Given the description of an element on the screen output the (x, y) to click on. 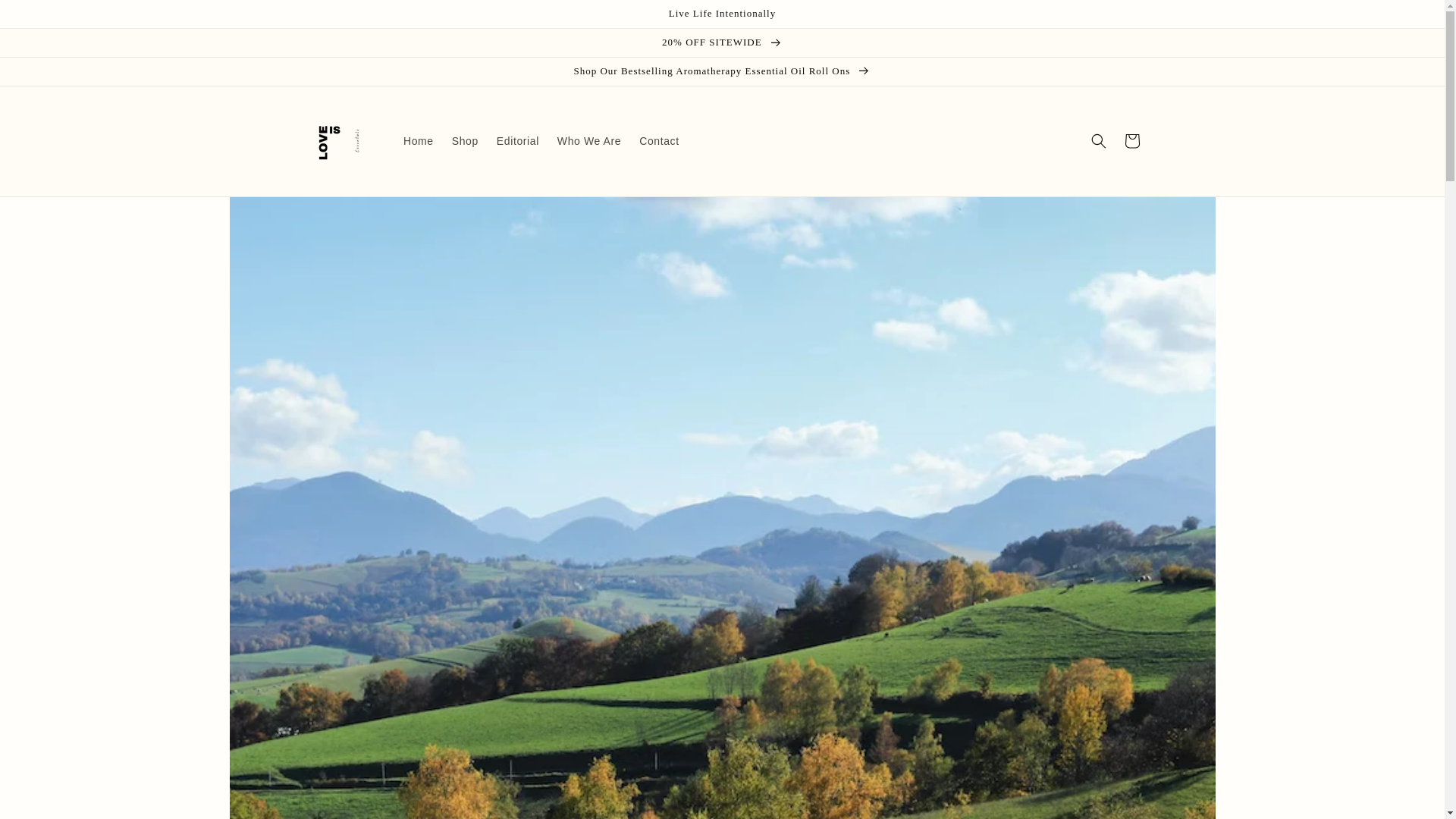
Shop (464, 141)
Home (418, 141)
Contact (658, 141)
Skip to content (45, 17)
Cart (1131, 141)
Editorial (517, 141)
Who We Are (589, 141)
